Given the description of an element on the screen output the (x, y) to click on. 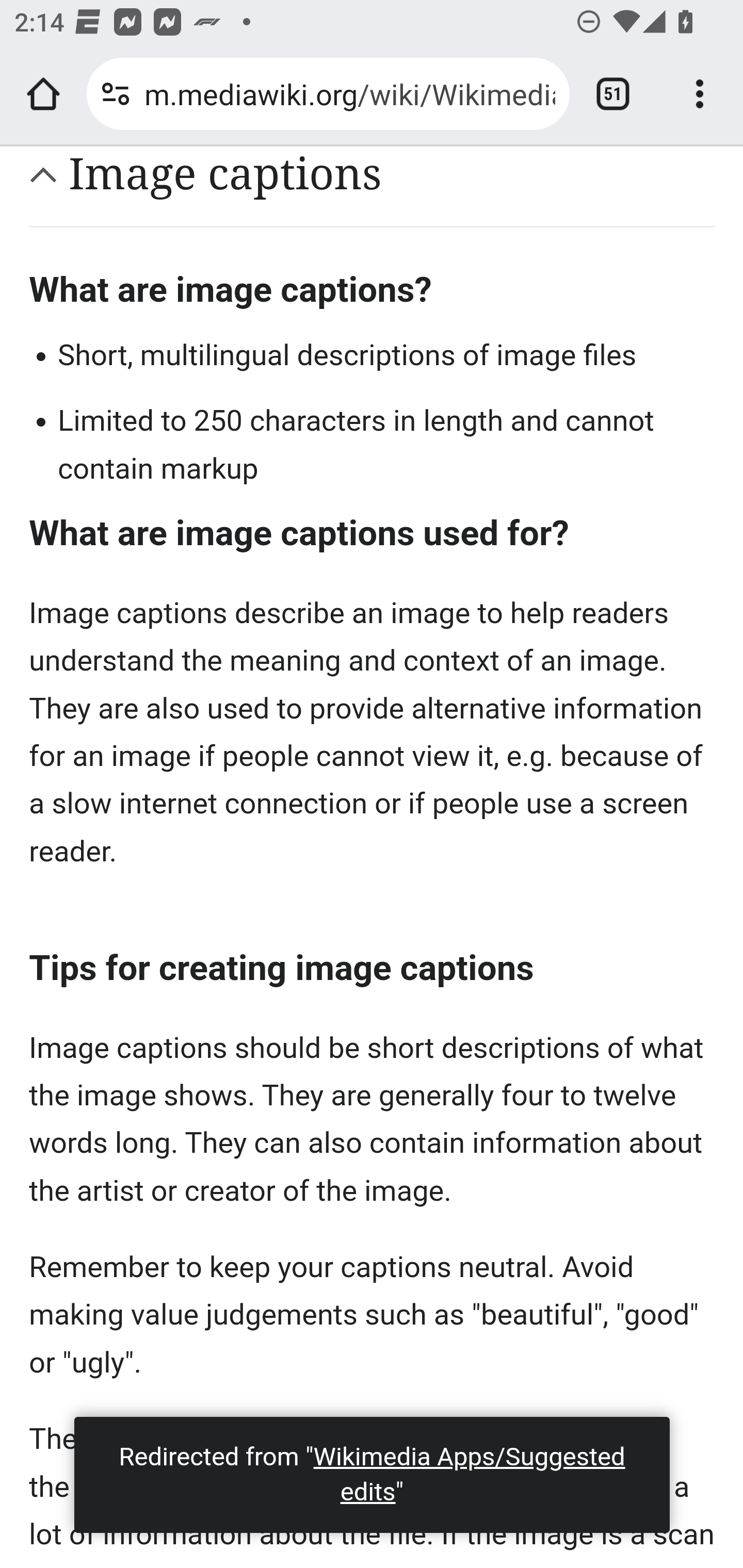
Open the home page (43, 93)
Connection is secure (115, 93)
Switch or close tabs (612, 93)
Customize and control Google Chrome (699, 93)
